Given the description of an element on the screen output the (x, y) to click on. 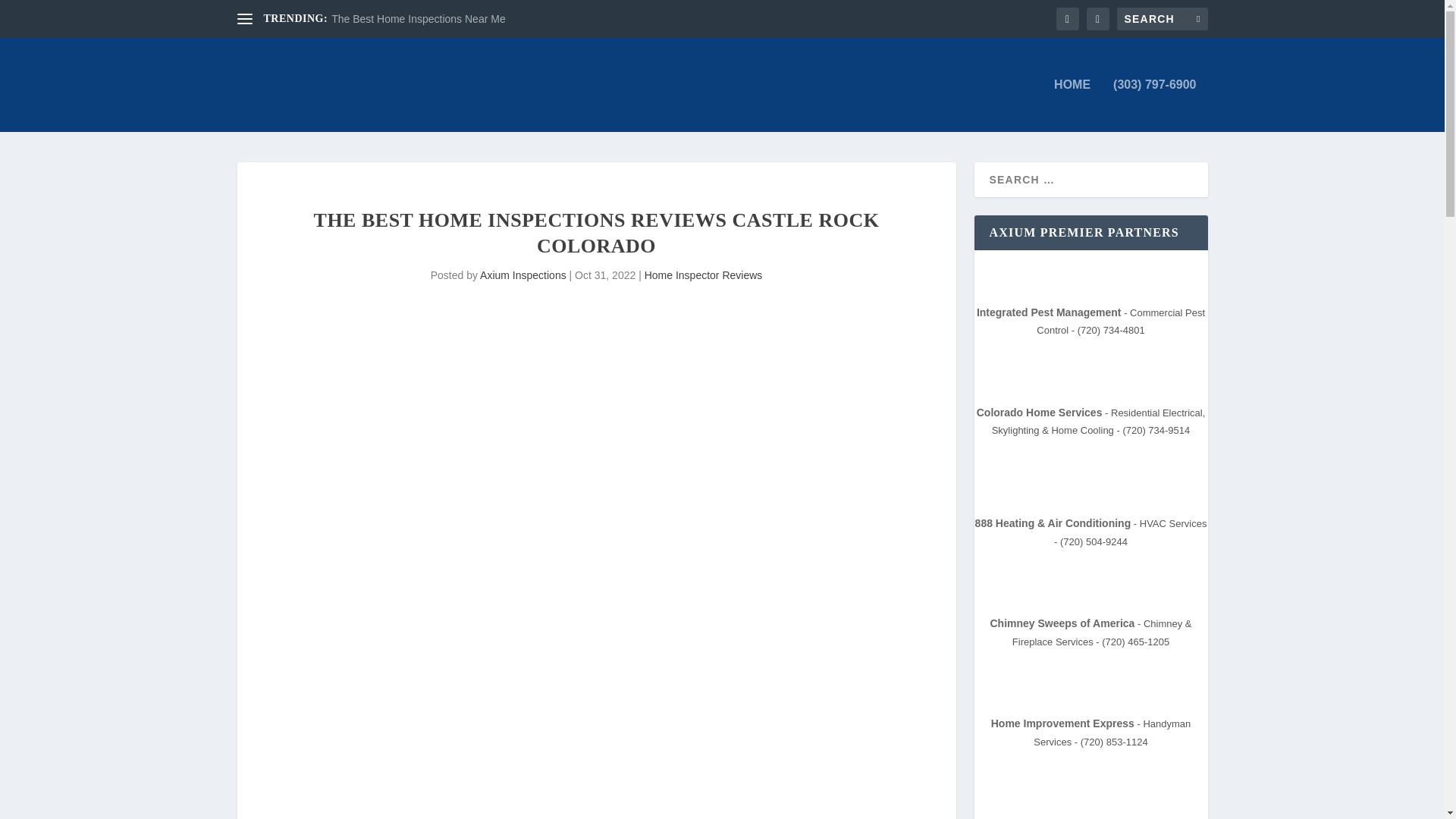
Posts by Axium Inspections (523, 275)
Colorado Home Services (1039, 412)
The Best Home Inspections Near Me (418, 19)
Search for: (1161, 18)
Integrated Pest Management (1048, 312)
Home Inspector Reviews (703, 275)
Axium Inspections (523, 275)
